Given the description of an element on the screen output the (x, y) to click on. 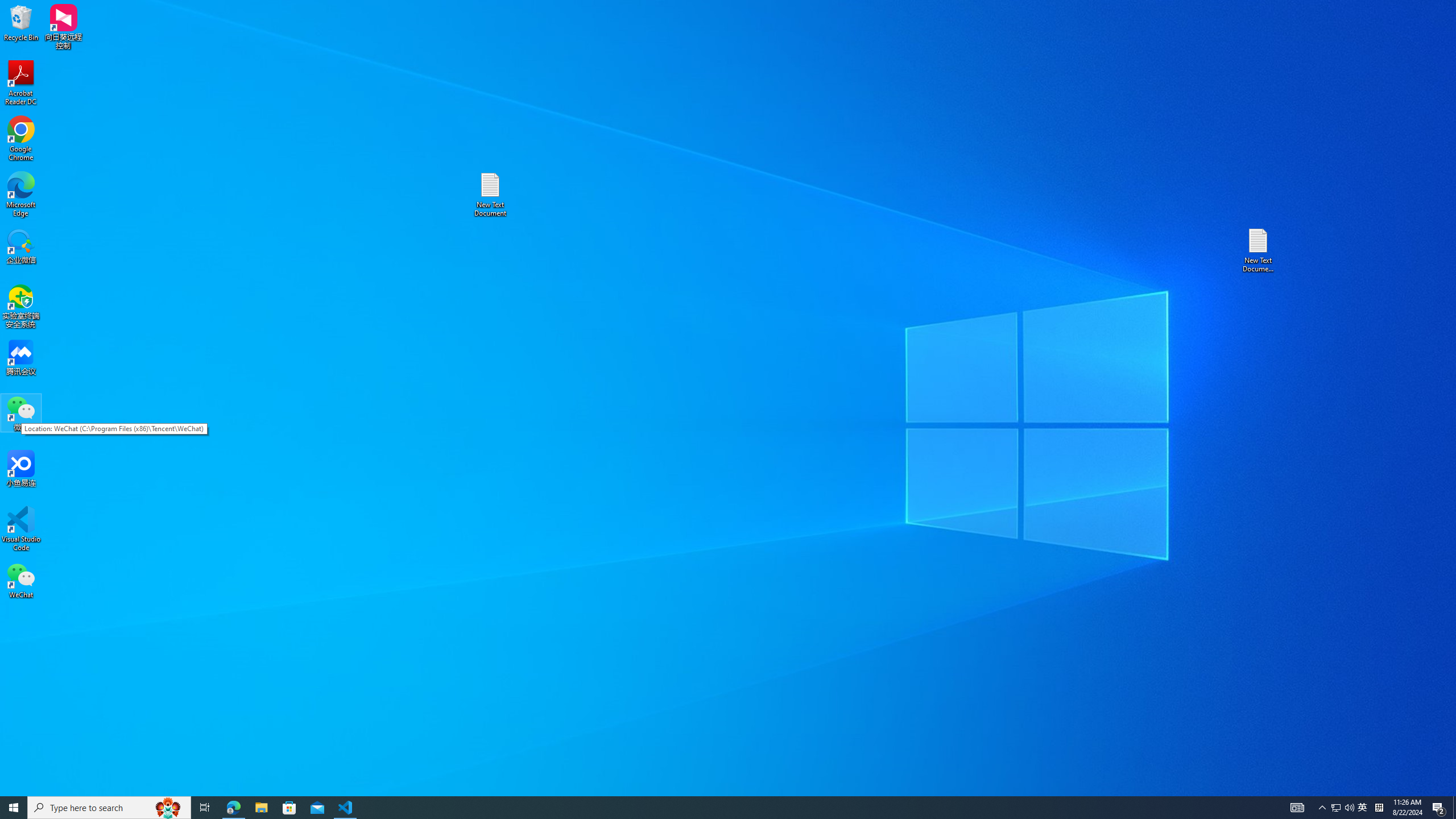
Microsoft Edge - 1 running window (233, 807)
WeChat (21, 580)
Visual Studio Code (21, 528)
Show desktop (1454, 807)
Search highlights icon opens search home window (167, 807)
File Explorer (1335, 807)
User Promoted Notification Area (261, 807)
Acrobat Reader DC (1342, 807)
Task View (21, 82)
Running applications (204, 807)
Action Center, 2 new notifications (707, 807)
